Given the description of an element on the screen output the (x, y) to click on. 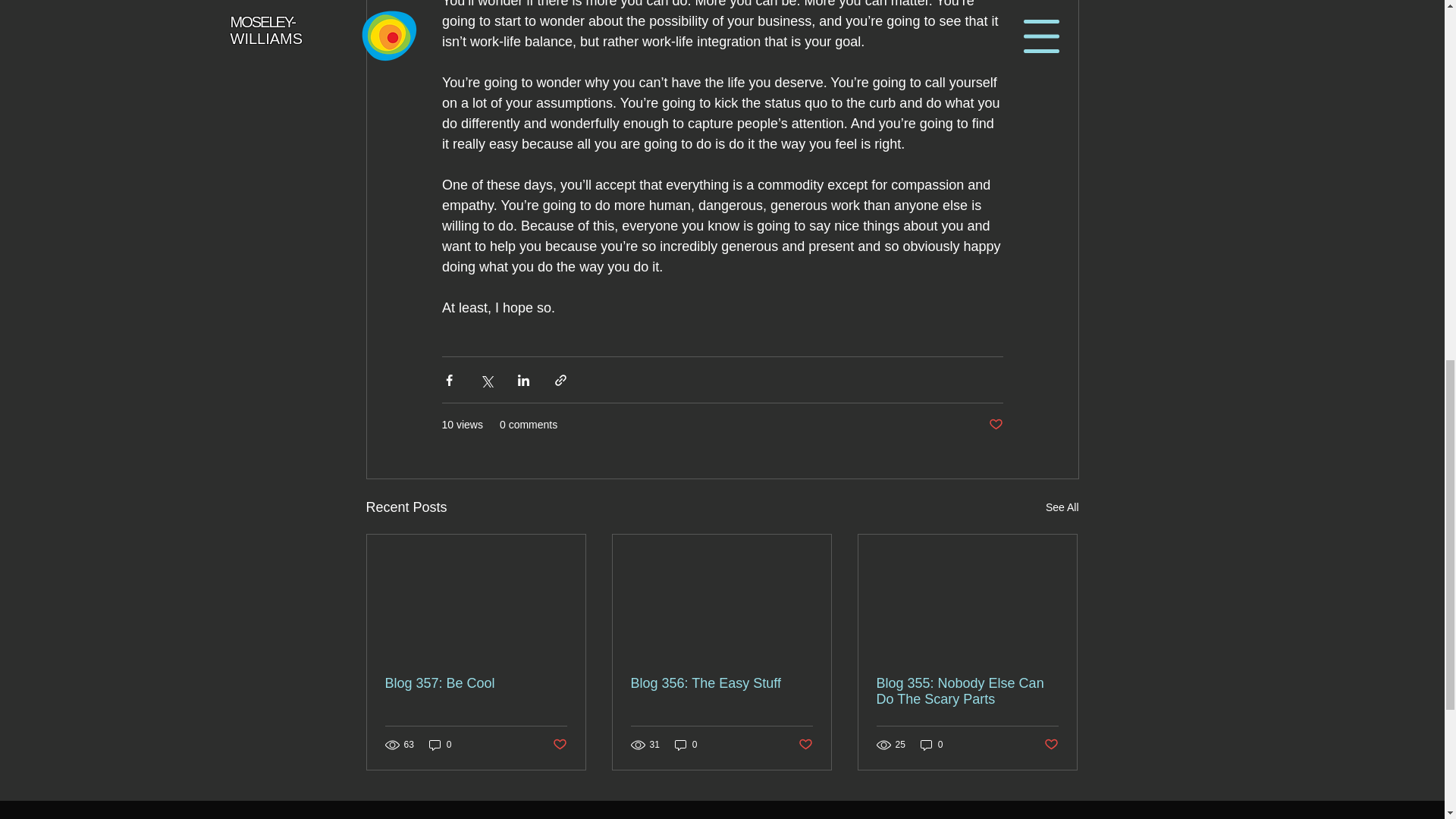
Post not marked as liked (1050, 744)
Post not marked as liked (995, 424)
Blog 357: Be Cool (476, 683)
0 (685, 744)
Post not marked as liked (558, 744)
See All (1061, 507)
Post not marked as liked (804, 744)
Blog 356: The Easy Stuff (721, 683)
0 (931, 744)
0 (440, 744)
Blog 355: Nobody Else Can Do The Scary Parts (967, 691)
